Given the description of an element on the screen output the (x, y) to click on. 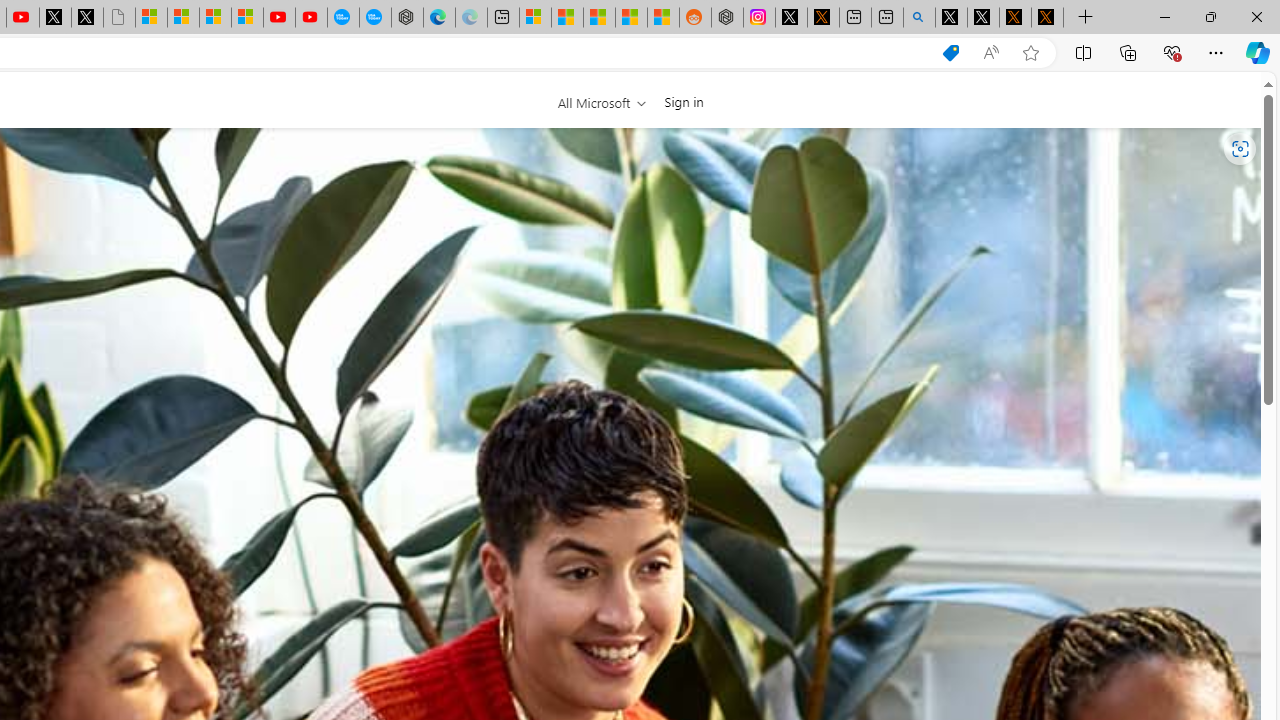
Log in to X / X (791, 17)
Shanghai, China Weather trends | Microsoft Weather (663, 17)
X Privacy Policy (1047, 17)
GitHub (@github) / X (983, 17)
YouTube Kids - An App Created for Kids to Explore Content (310, 17)
